Given the description of an element on the screen output the (x, y) to click on. 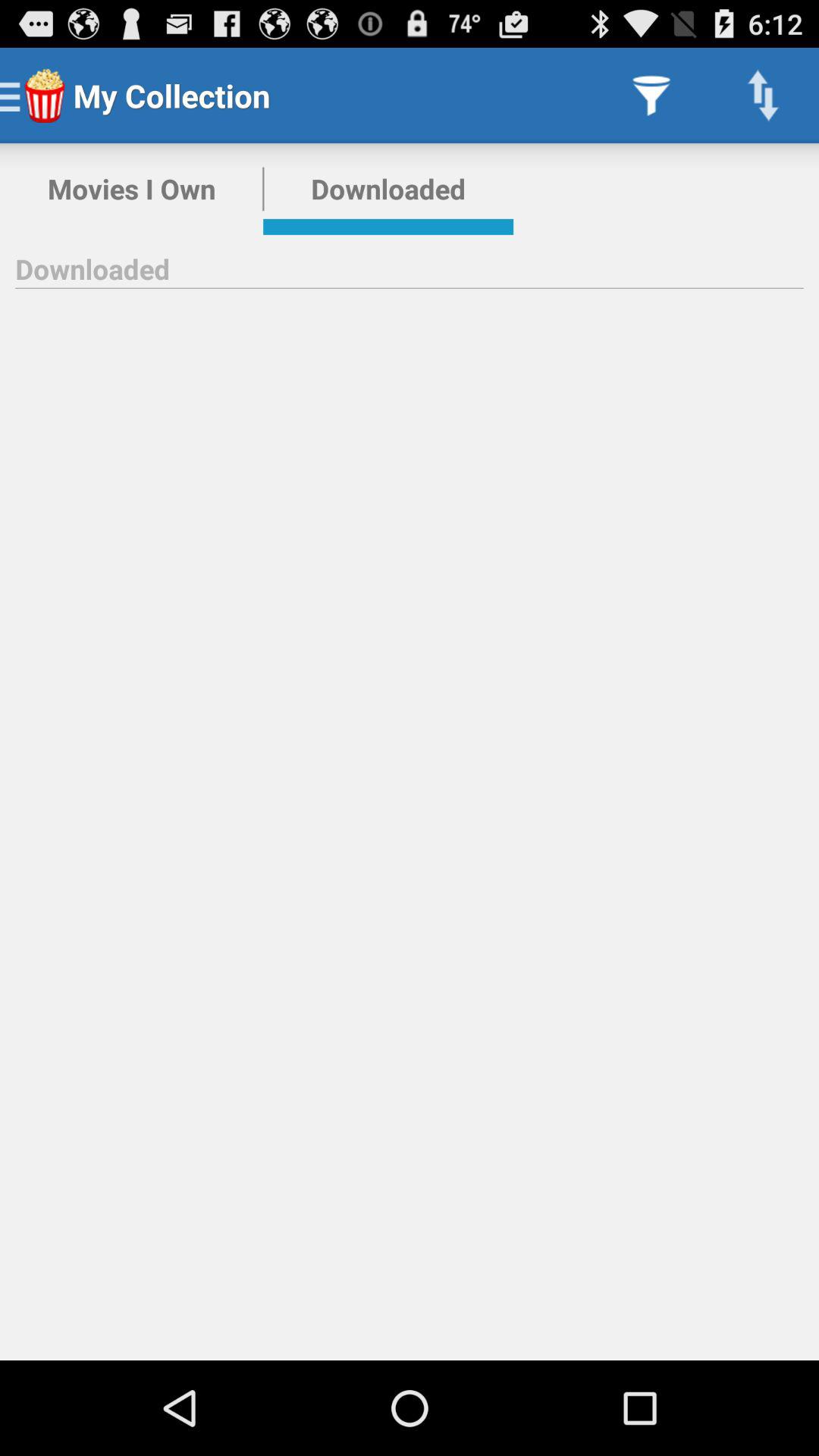
swipe to the downloaded icon (388, 188)
